Given the description of an element on the screen output the (x, y) to click on. 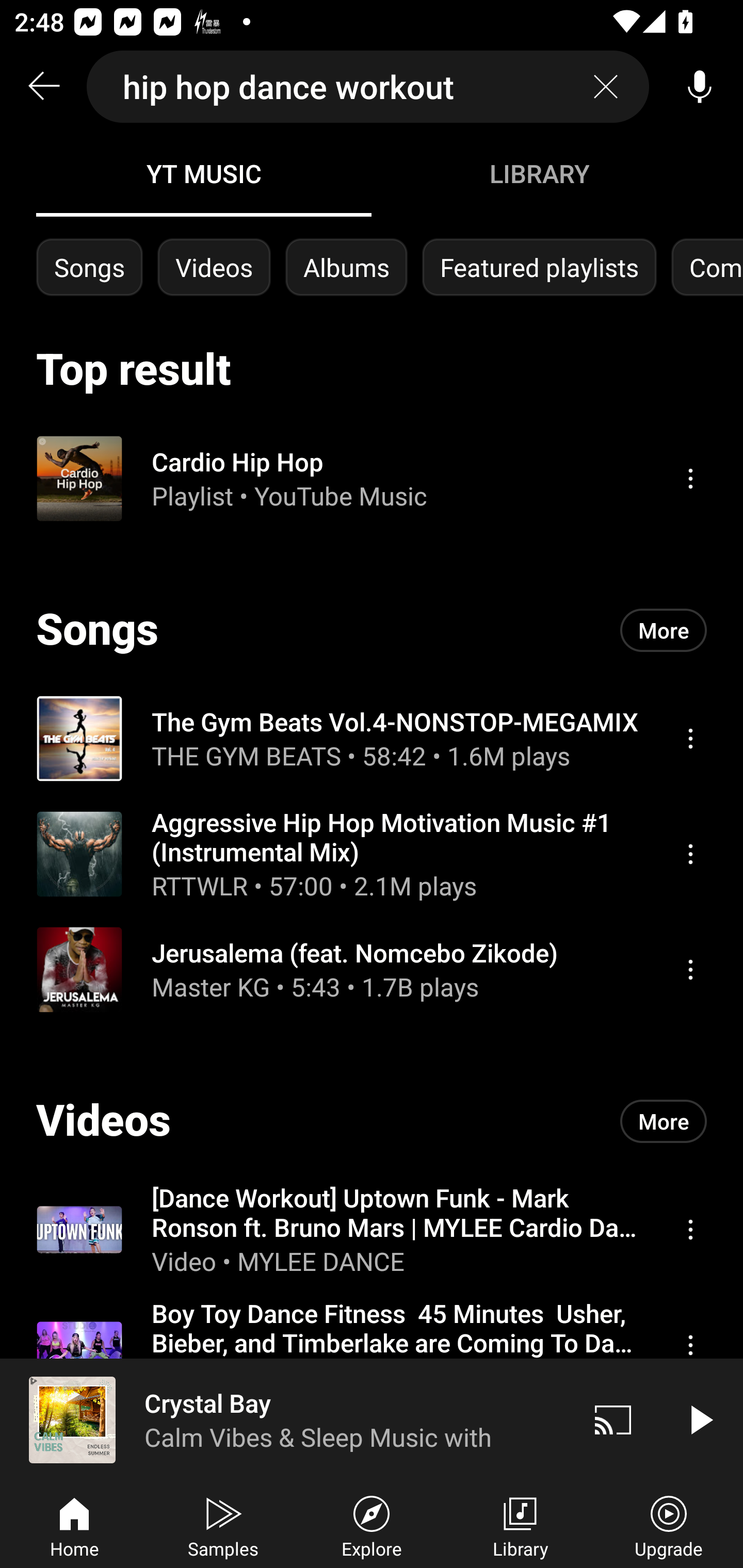
Search back (43, 86)
hip hop dance workout (367, 86)
Clear search (605, 86)
Voice search (699, 86)
Library LIBRARY (538, 173)
Menu (690, 478)
Songs More More (371, 630)
More (663, 630)
Menu (690, 738)
Menu (690, 854)
Menu (690, 968)
Videos More More (371, 1120)
More (663, 1121)
Menu (690, 1229)
Menu (690, 1345)
Cast. Disconnected (612, 1419)
Play video (699, 1419)
Home (74, 1524)
Samples (222, 1524)
Explore (371, 1524)
Library (519, 1524)
Upgrade (668, 1524)
